Given the description of an element on the screen output the (x, y) to click on. 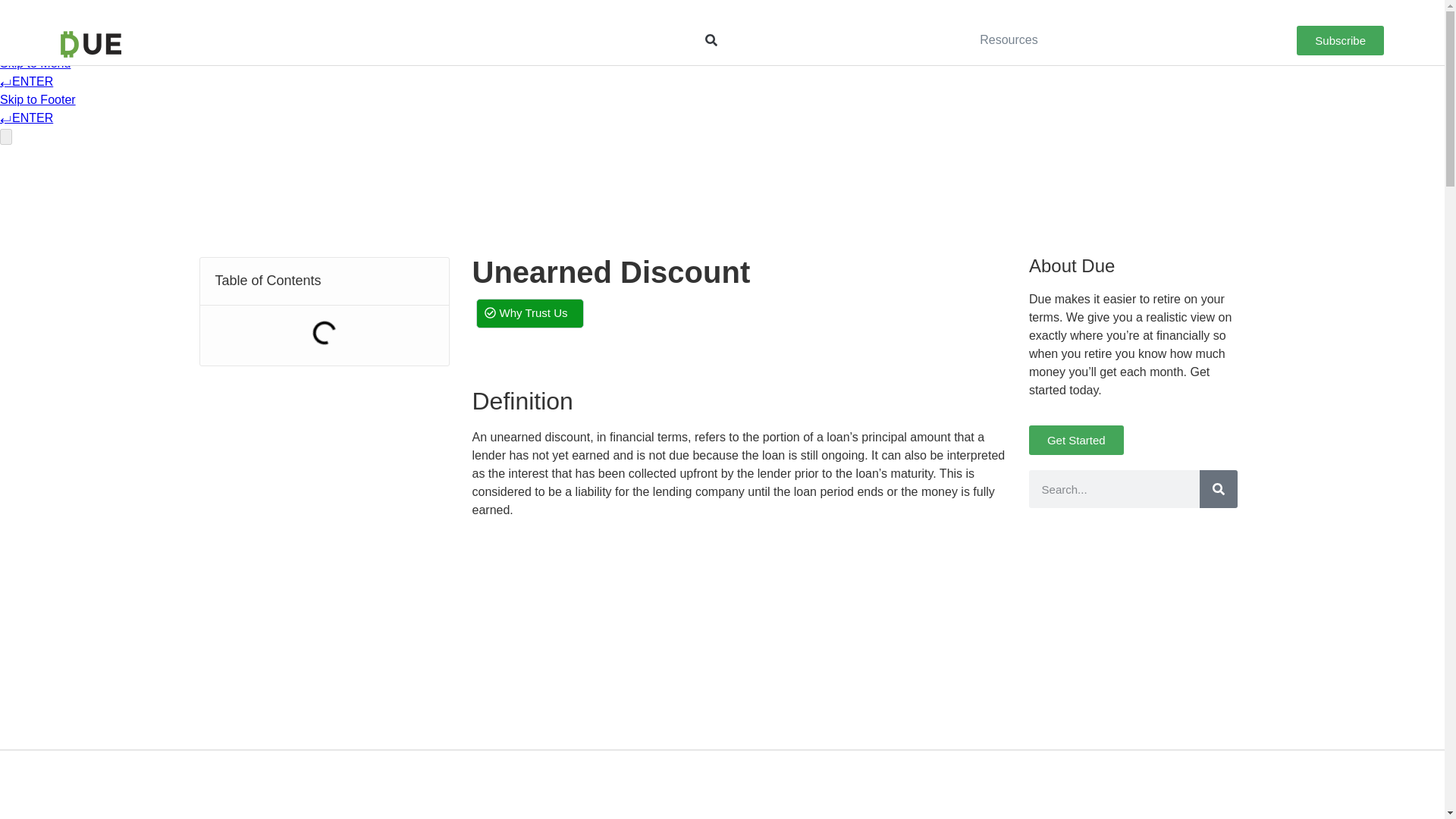
Why Trust Us (529, 313)
Resources (1007, 39)
Subscribe (1340, 40)
Get Started (1076, 440)
